Given the description of an element on the screen output the (x, y) to click on. 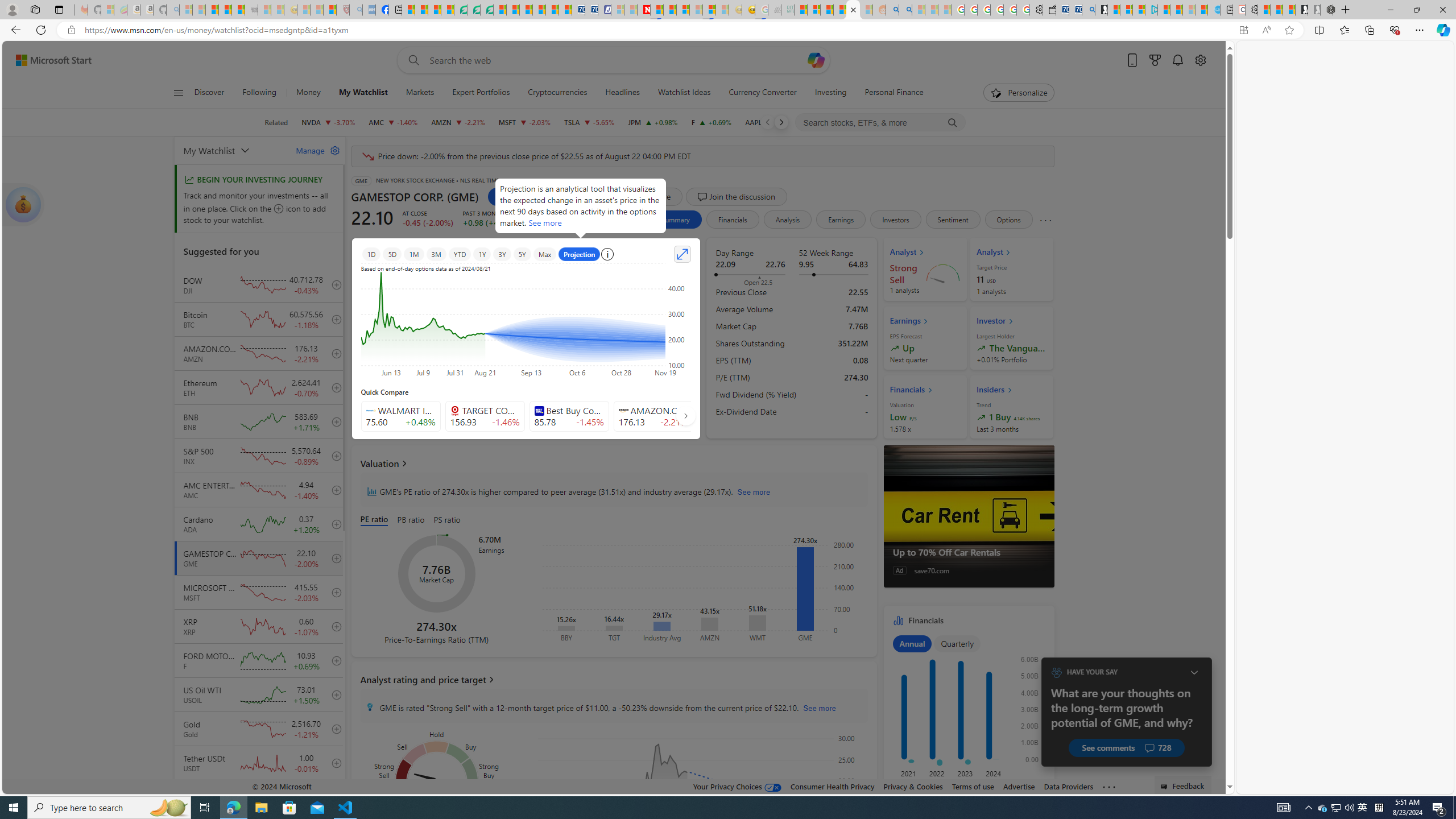
Watchlist Ideas (684, 92)
Summary (675, 219)
3M (436, 254)
NCL Adult Asthma Inhaler Choice Guideline - Sleeping (369, 9)
Class: feedback_link_icon-DS-EntryPoint1-1 (1165, 786)
New Report Confirms 2023 Was Record Hot | Watch (237, 9)
Navy Quest (774, 9)
My Watchlist (363, 92)
My Watchlist (362, 92)
AAPL APPLE INC. decrease 224.53 -1.87 -0.83% (770, 122)
Discover (208, 92)
show card (22, 204)
